Given the description of an element on the screen output the (x, y) to click on. 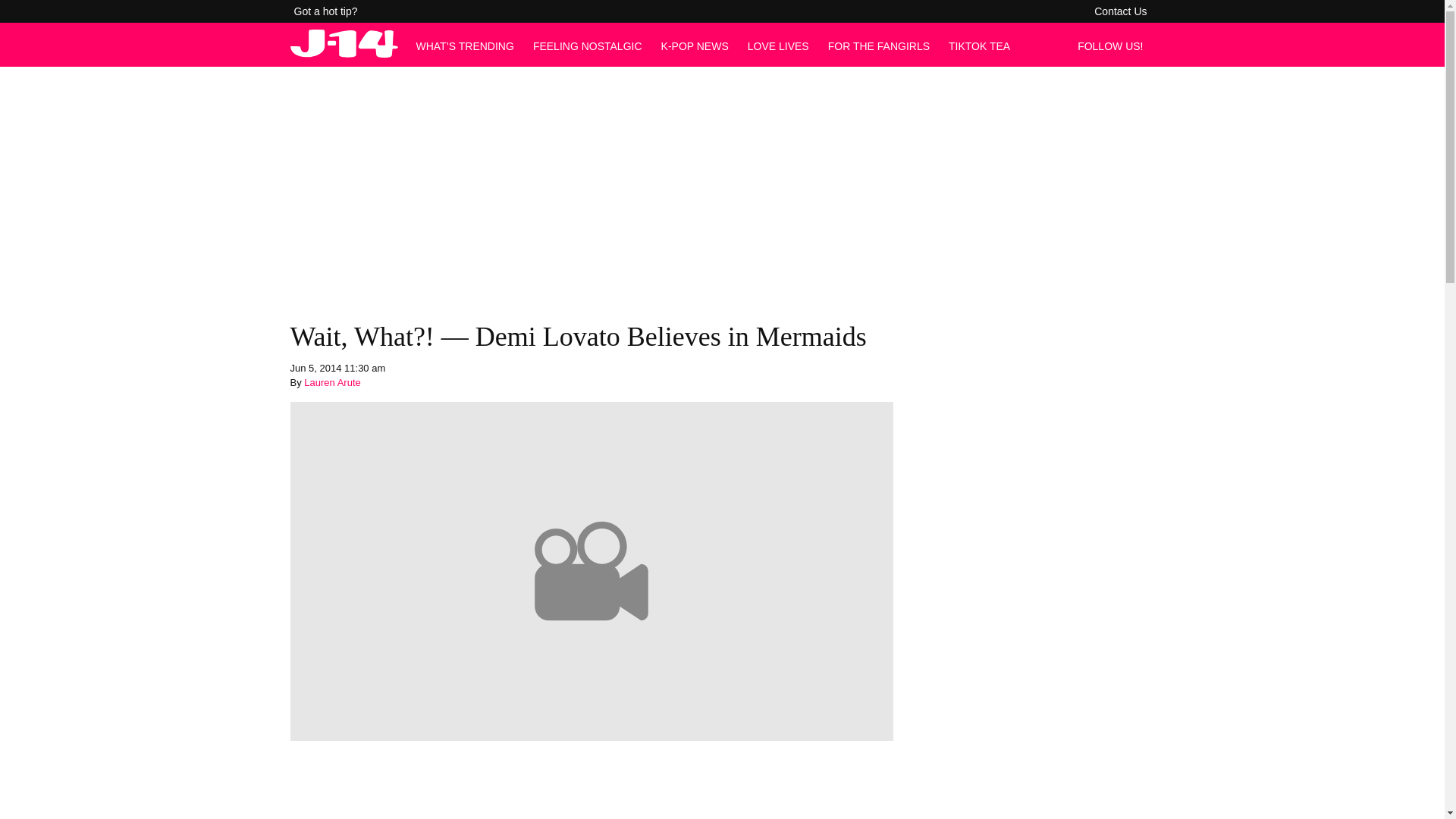
Posts by Lauren Arute (331, 382)
Got a hot tip? (325, 11)
FOLLOW US! (1114, 45)
Lauren Arute (331, 382)
Home (343, 52)
LOVE LIVES (778, 46)
FOR THE FANGIRLS (879, 46)
TIKTOK TEA (979, 46)
FEELING NOSTALGIC (587, 46)
K-POP NEWS (695, 46)
